Given the description of an element on the screen output the (x, y) to click on. 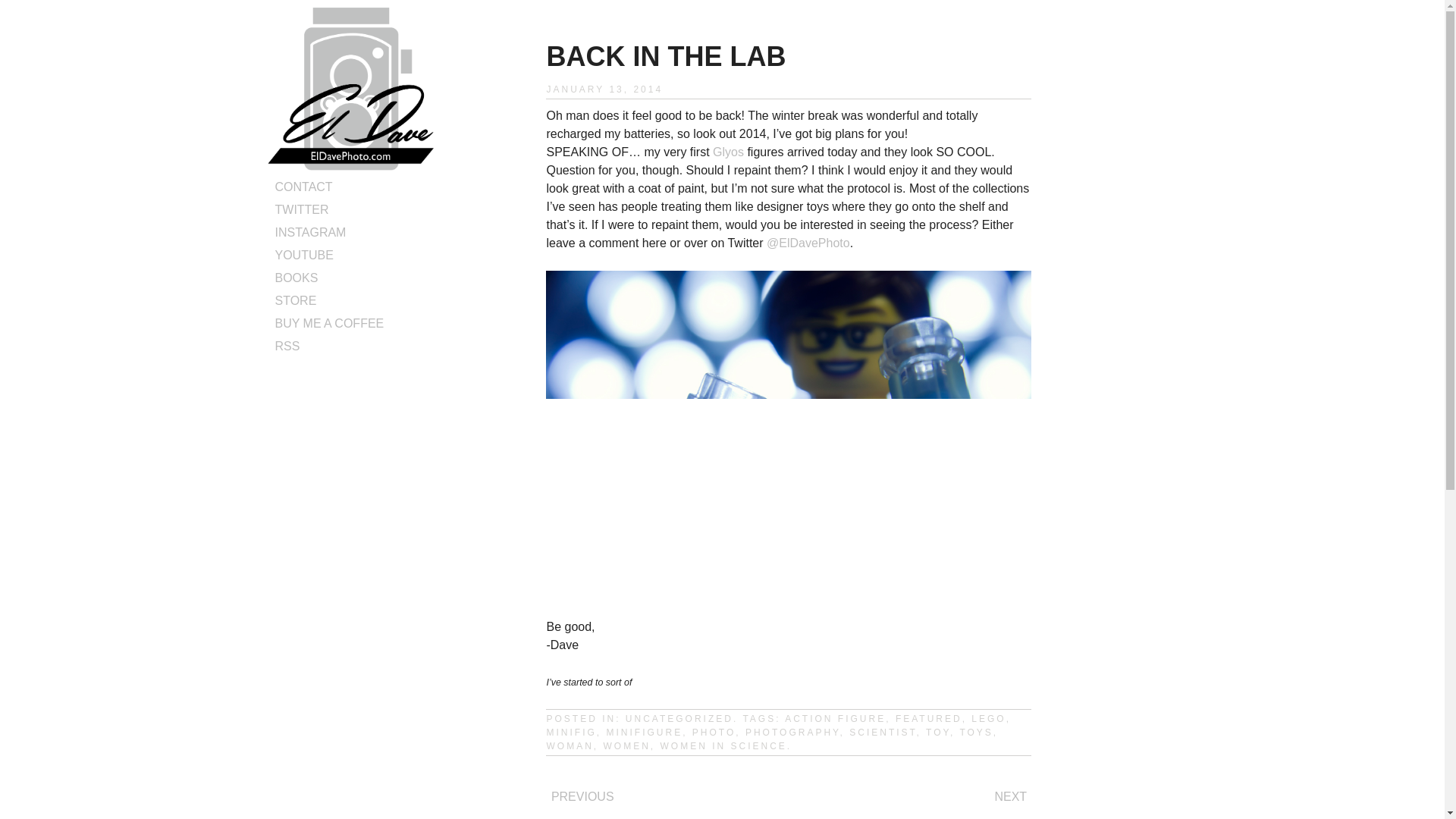
STORE (295, 300)
LEGO (988, 718)
TOYS (975, 732)
El Dave Photography (349, 165)
BUY ME A COFFEE (329, 323)
TOY (938, 732)
BOOKS (296, 277)
RSS (287, 345)
UNCATEGORIZED (679, 718)
WOMEN IN SCIENCE (722, 746)
